Given the description of an element on the screen output the (x, y) to click on. 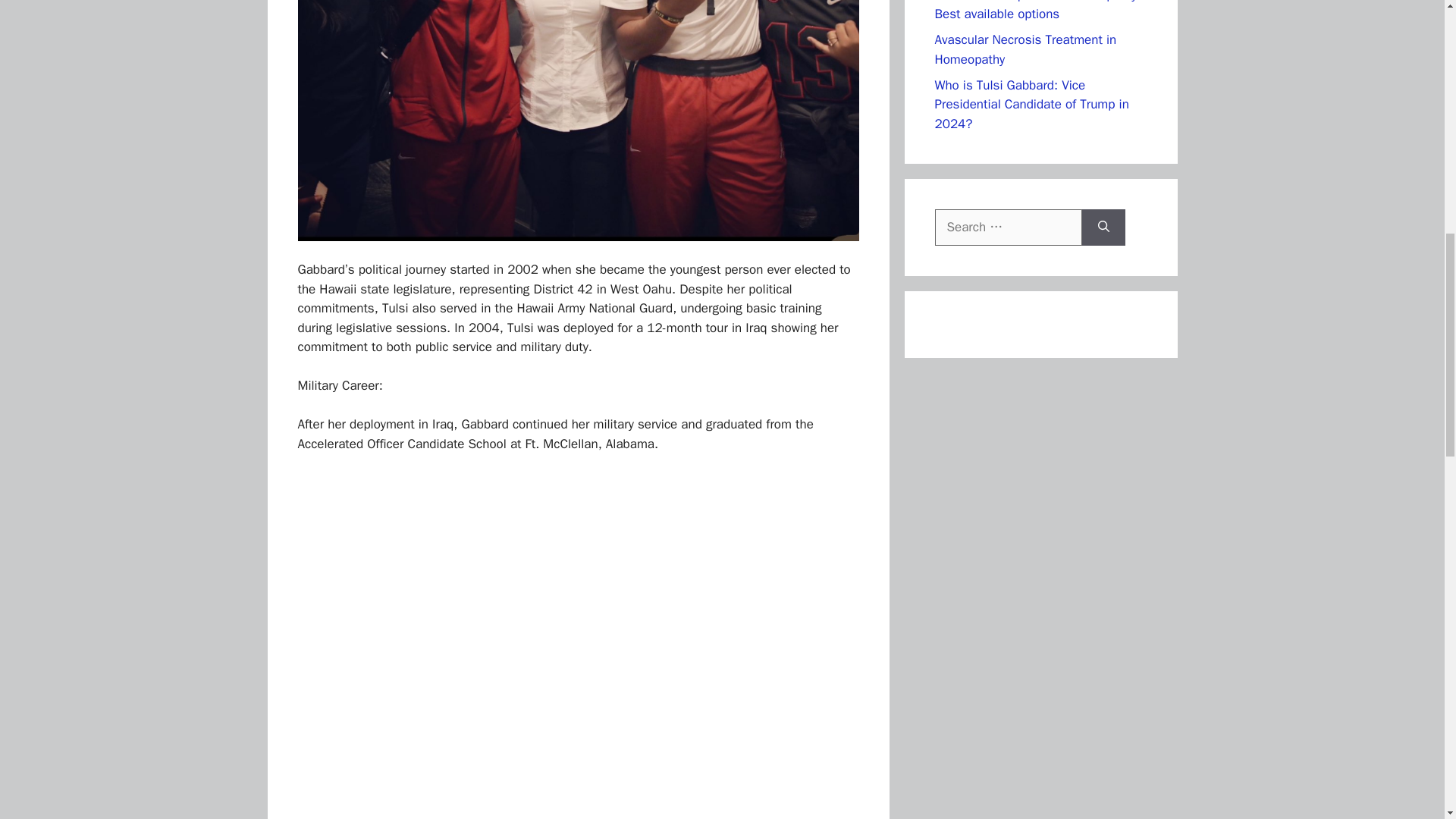
Avascular Necrosis Treatment in Homeopathy (1025, 49)
Search for: (1007, 227)
Medicine for Lipoma in Homeopathy: Best available options (1037, 11)
